Given the description of an element on the screen output the (x, y) to click on. 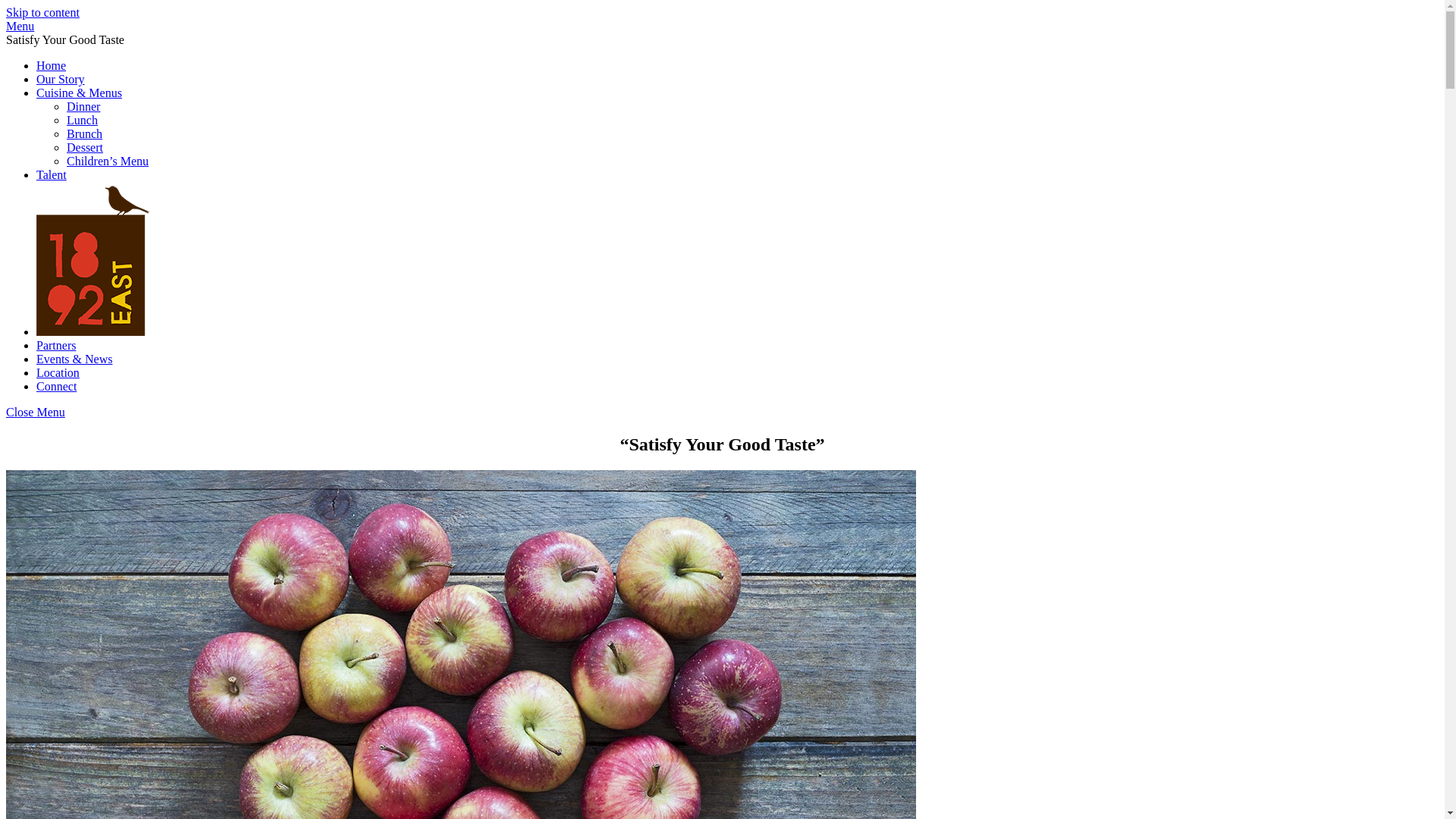
Talent Element type: text (51, 174)
Our Story Element type: text (60, 78)
Events & News Element type: text (74, 358)
Menu Element type: text (20, 25)
Partners Element type: text (55, 344)
Location Element type: text (57, 372)
Close Menu Element type: text (35, 411)
Dessert Element type: text (84, 147)
Brunch Element type: text (84, 133)
1892 East Restaurant & Tavern Element type: hover (93, 331)
Dinner Element type: text (83, 106)
Lunch Element type: text (81, 119)
logo-150 Element type: hover (93, 258)
Connect Element type: text (56, 385)
Skip to content Element type: text (42, 12)
Cuisine & Menus Element type: text (79, 92)
Home Element type: text (50, 65)
